Given the description of an element on the screen output the (x, y) to click on. 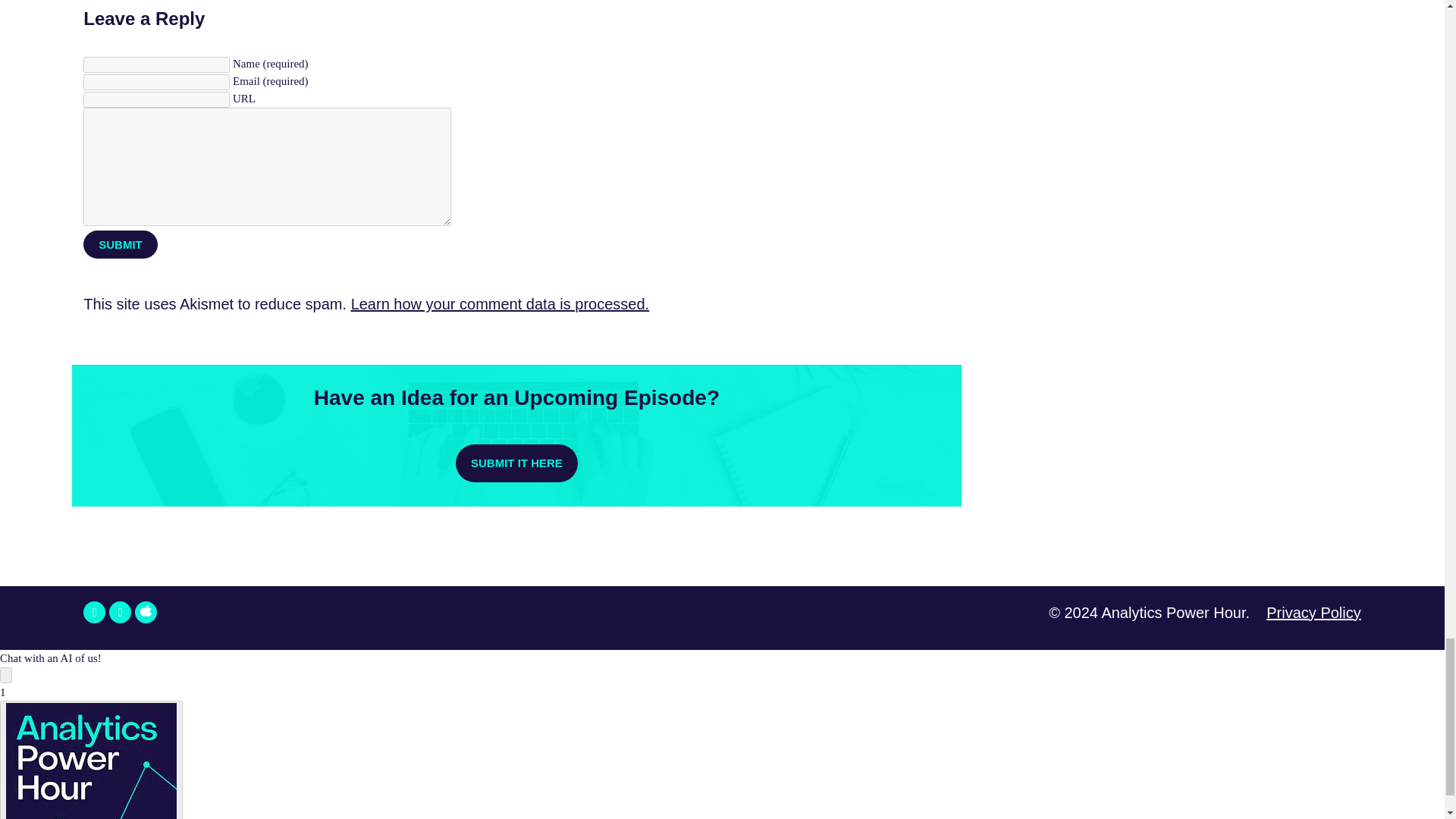
Submit (119, 244)
